Given the description of an element on the screen output the (x, y) to click on. 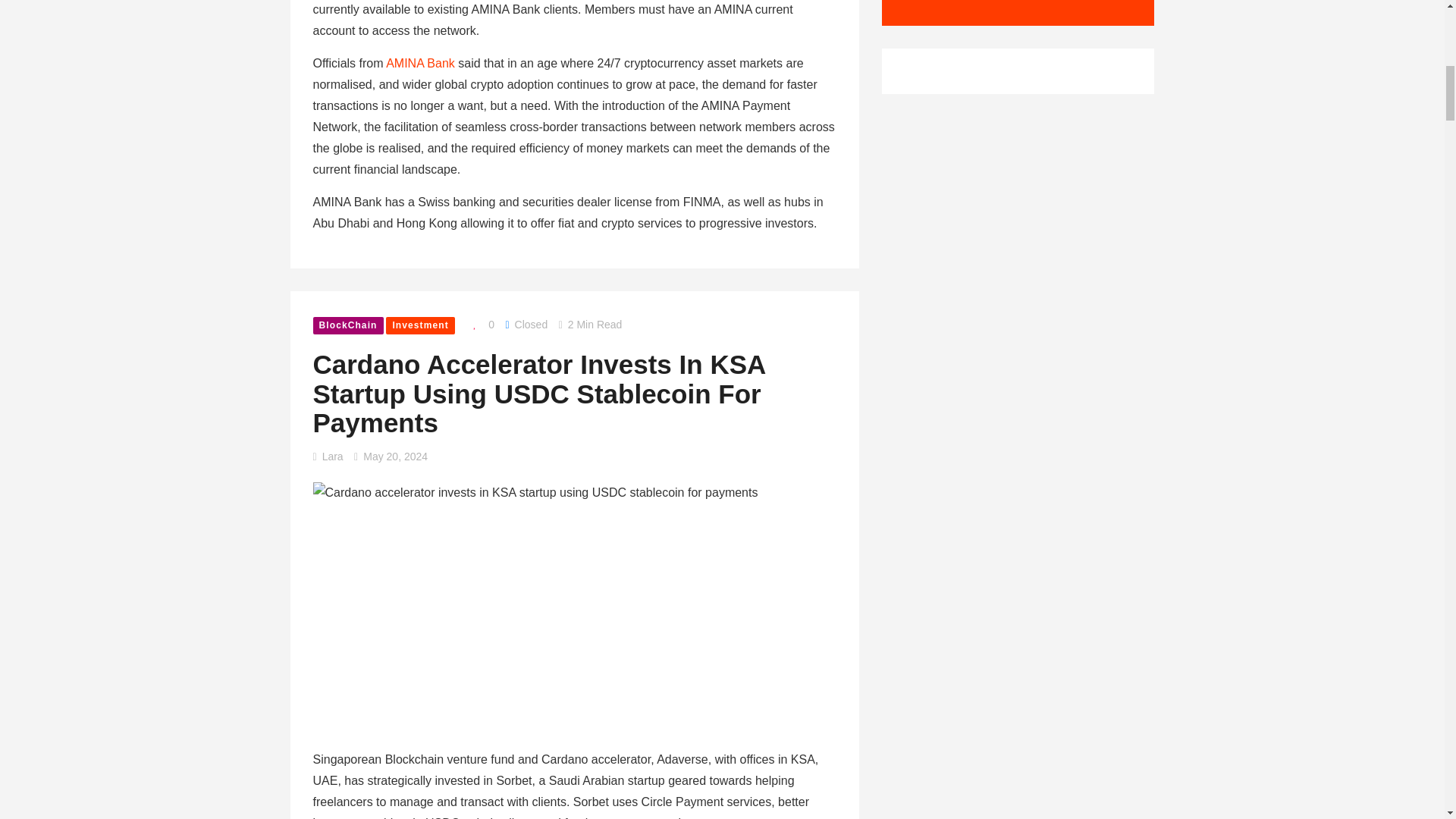
Like this (480, 323)
